Given the description of an element on the screen output the (x, y) to click on. 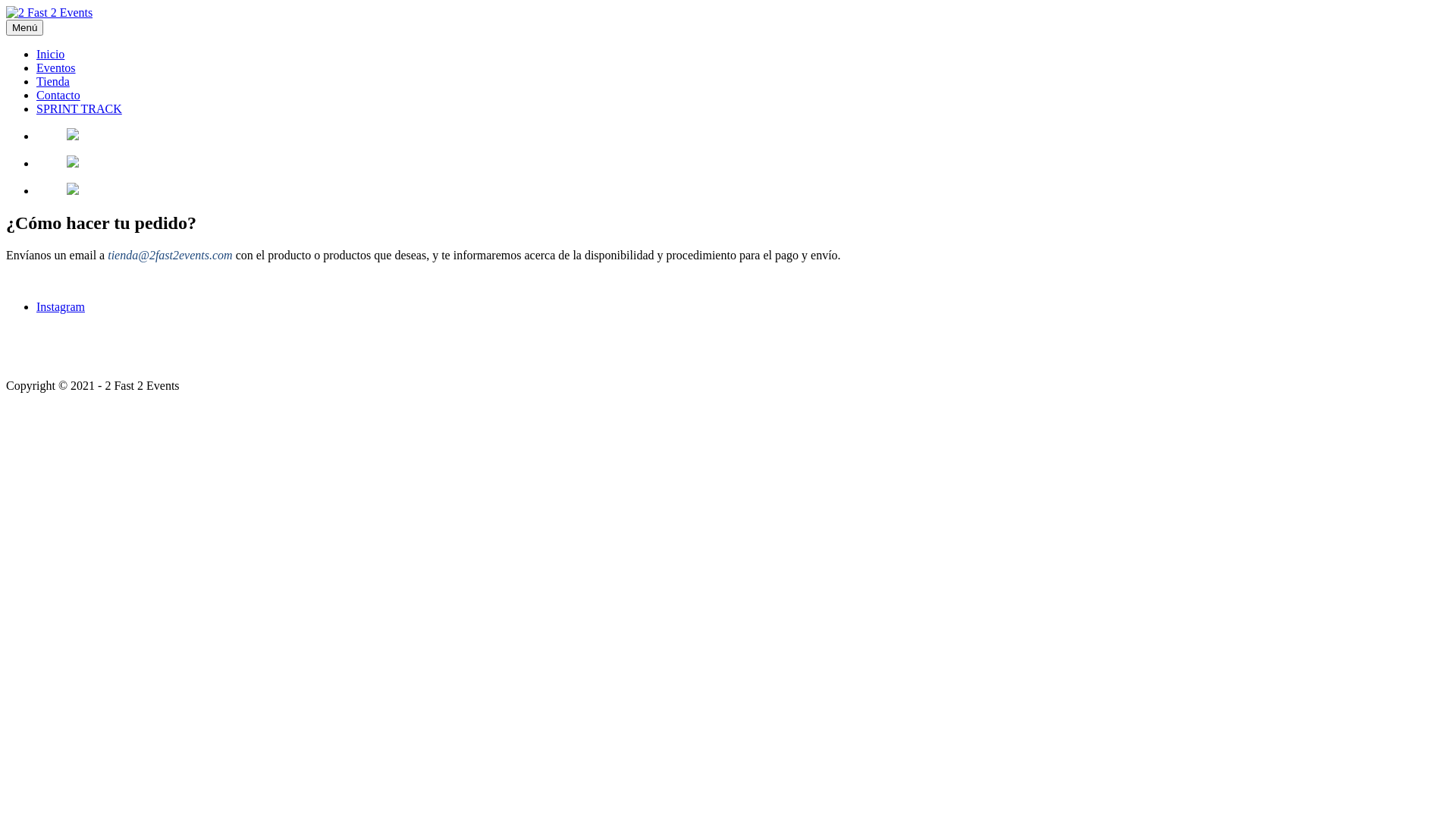
Inicio Element type: text (50, 53)
Eventos Element type: text (55, 67)
Tienda Element type: text (52, 81)
Contacto Element type: text (58, 94)
Instagram Element type: text (60, 306)
SPRINT TRACK Element type: text (79, 108)
